Given the description of an element on the screen output the (x, y) to click on. 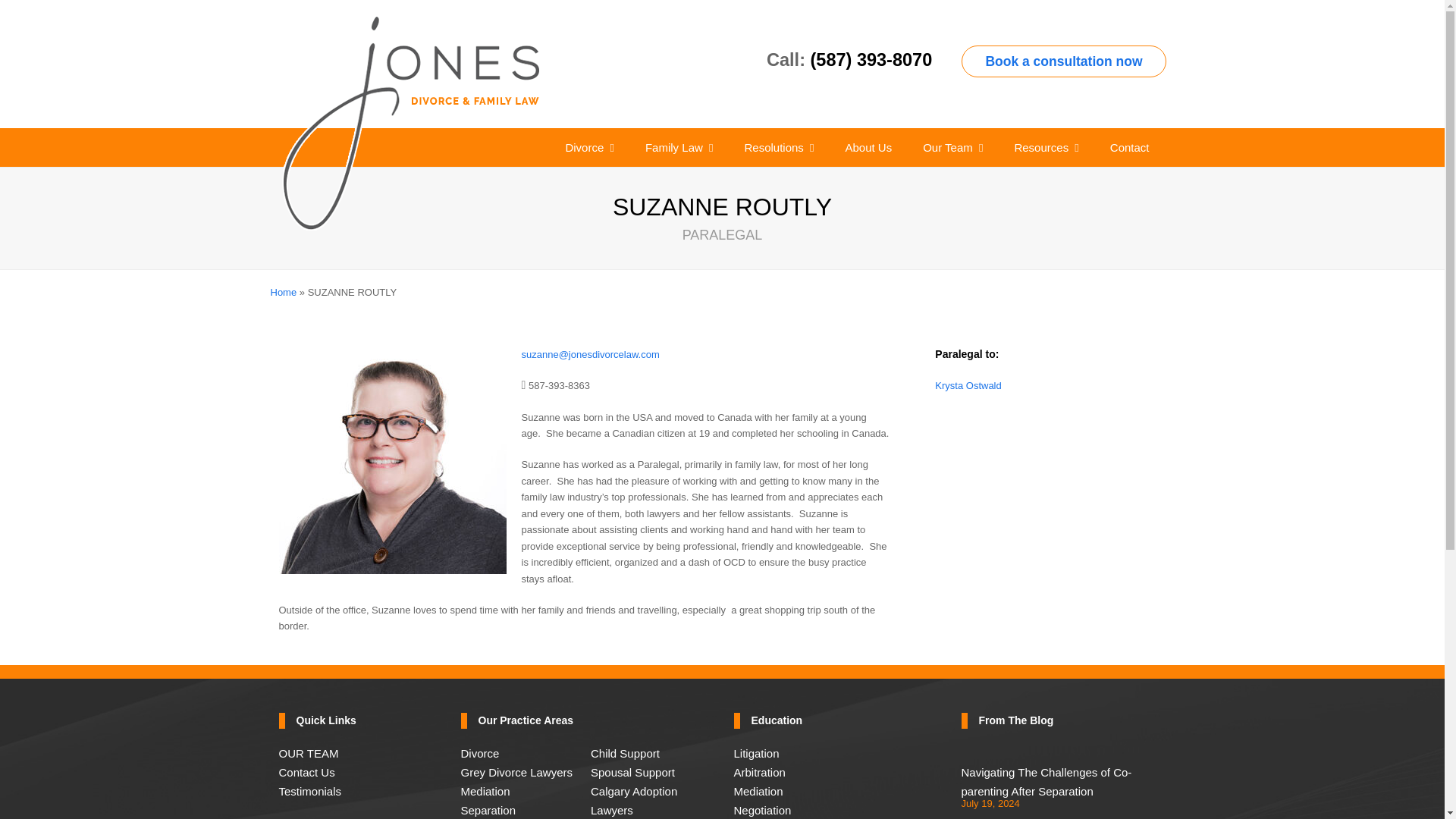
About Us (868, 147)
Divorce (589, 147)
Book a consultation now (1063, 60)
Family Law (679, 147)
Resolutions (778, 147)
Our Team (952, 147)
